Given the description of an element on the screen output the (x, y) to click on. 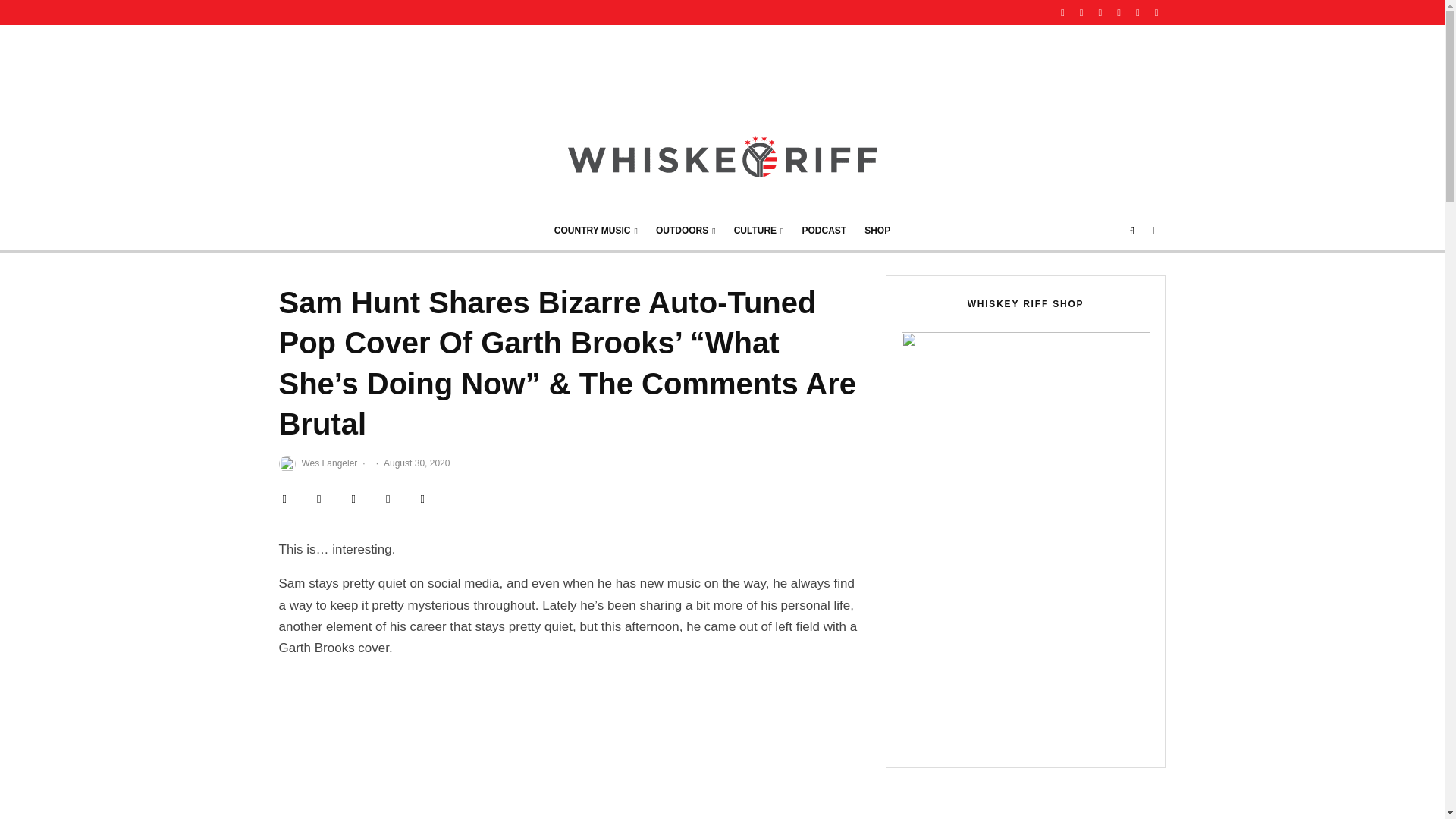
CULTURE (759, 231)
COUNTRY MUSIC (595, 231)
OUTDOORS (685, 231)
